Given the description of an element on the screen output the (x, y) to click on. 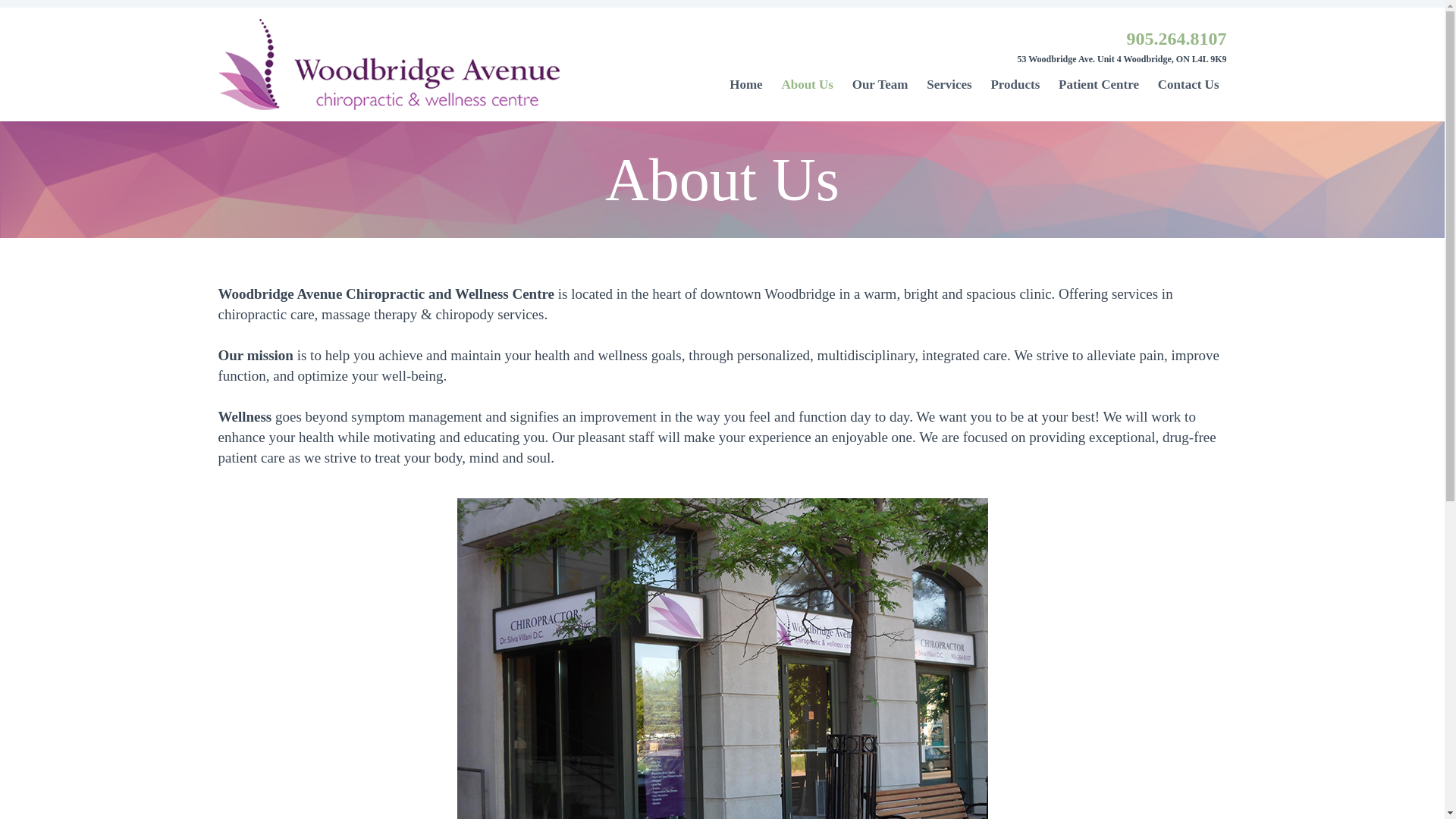
Services (948, 84)
Products (1014, 84)
Our Team (879, 84)
Patient Centre (1099, 84)
Contact Us (1188, 84)
About Us (807, 84)
Home (746, 84)
